Given the description of an element on the screen output the (x, y) to click on. 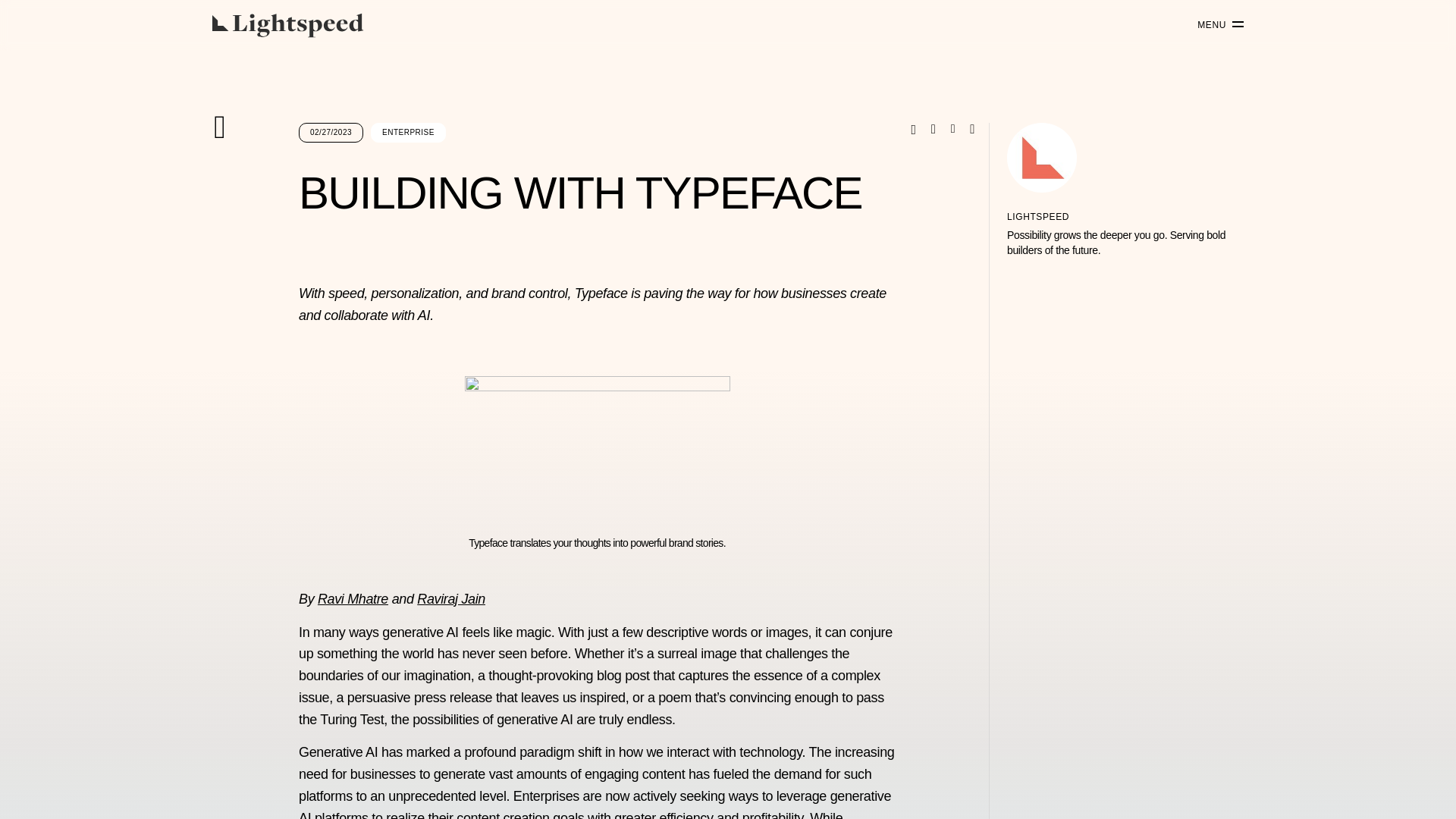
Ravi Mhatre (352, 598)
MENU (1214, 25)
Raviraj Jain (450, 598)
